Given the description of an element on the screen output the (x, y) to click on. 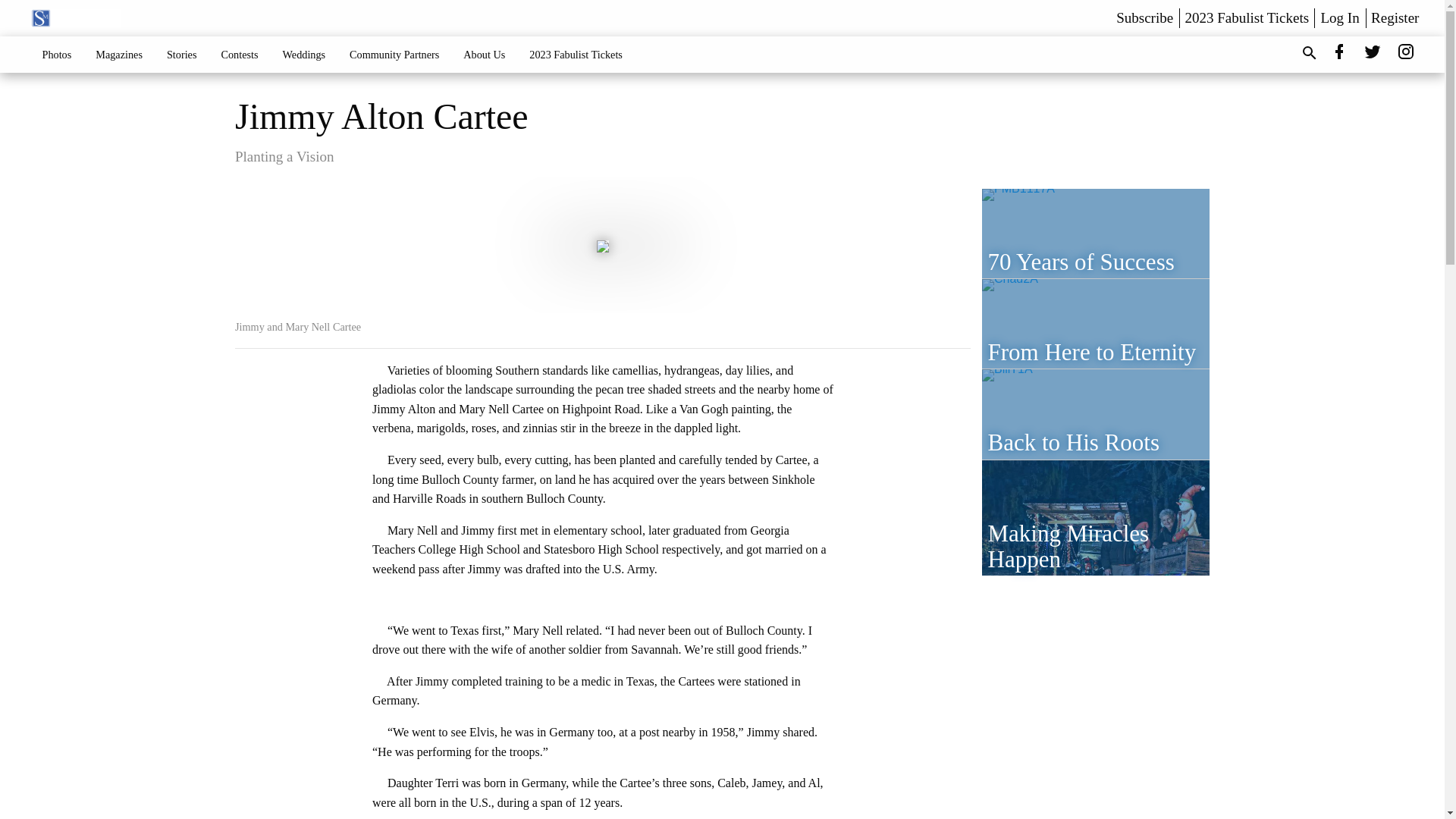
Contests (238, 54)
Stories (181, 54)
Photos (57, 54)
Magazines (118, 54)
2023 Fabulist Tickets (575, 54)
Register (1394, 17)
Community Partners (394, 54)
Weddings (303, 54)
2023 Fabulist Tickets (1246, 17)
Log In (1339, 17)
